Given the description of an element on the screen output the (x, y) to click on. 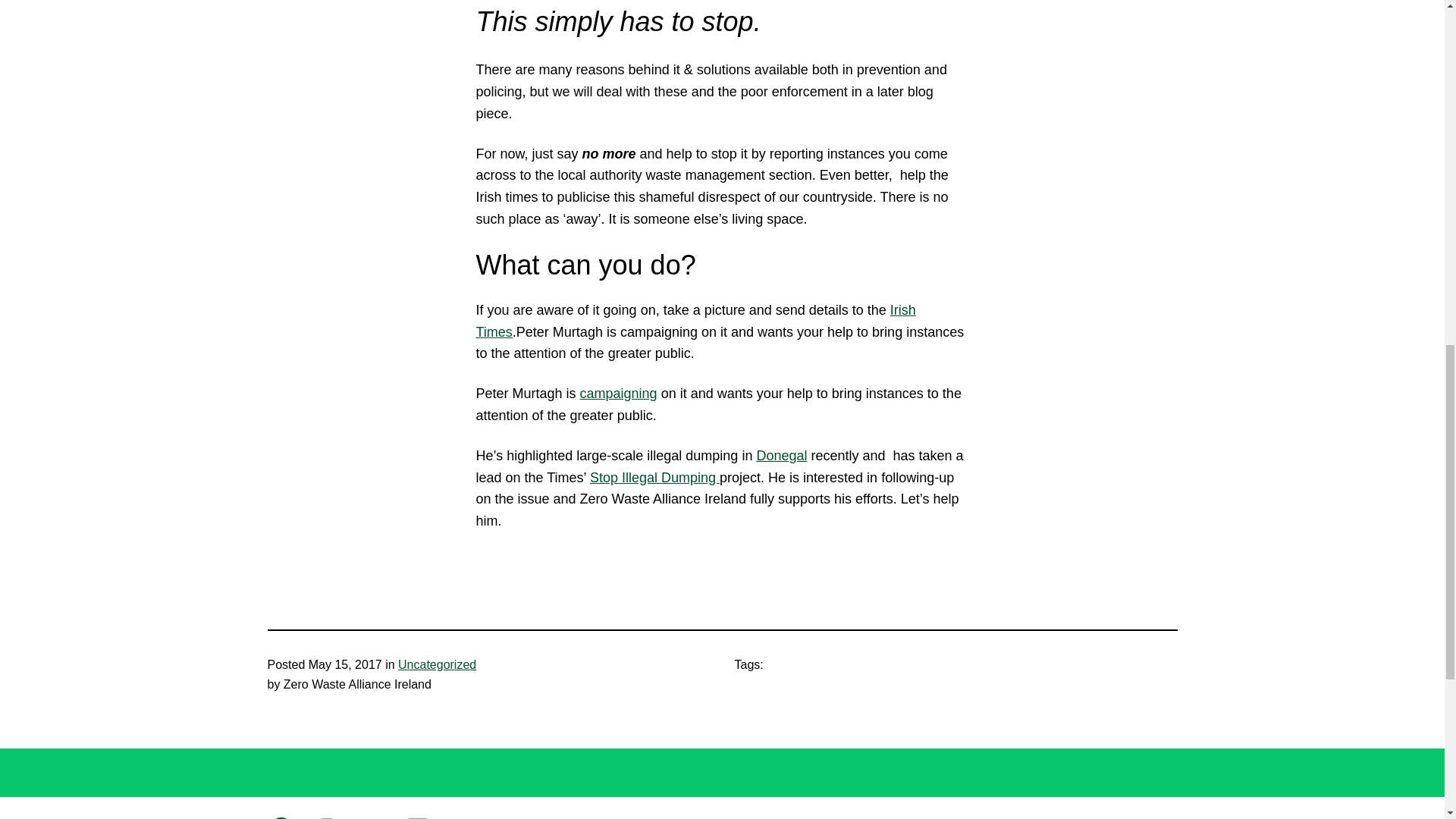
campaigning (618, 393)
Instagram (326, 816)
Facebook (280, 816)
Uncategorized (436, 664)
Twitter (371, 816)
LinkedIn (416, 816)
Stop Illegal Dumping (654, 477)
Contact Us (763, 818)
Irish Times (695, 320)
